Given the description of an element on the screen output the (x, y) to click on. 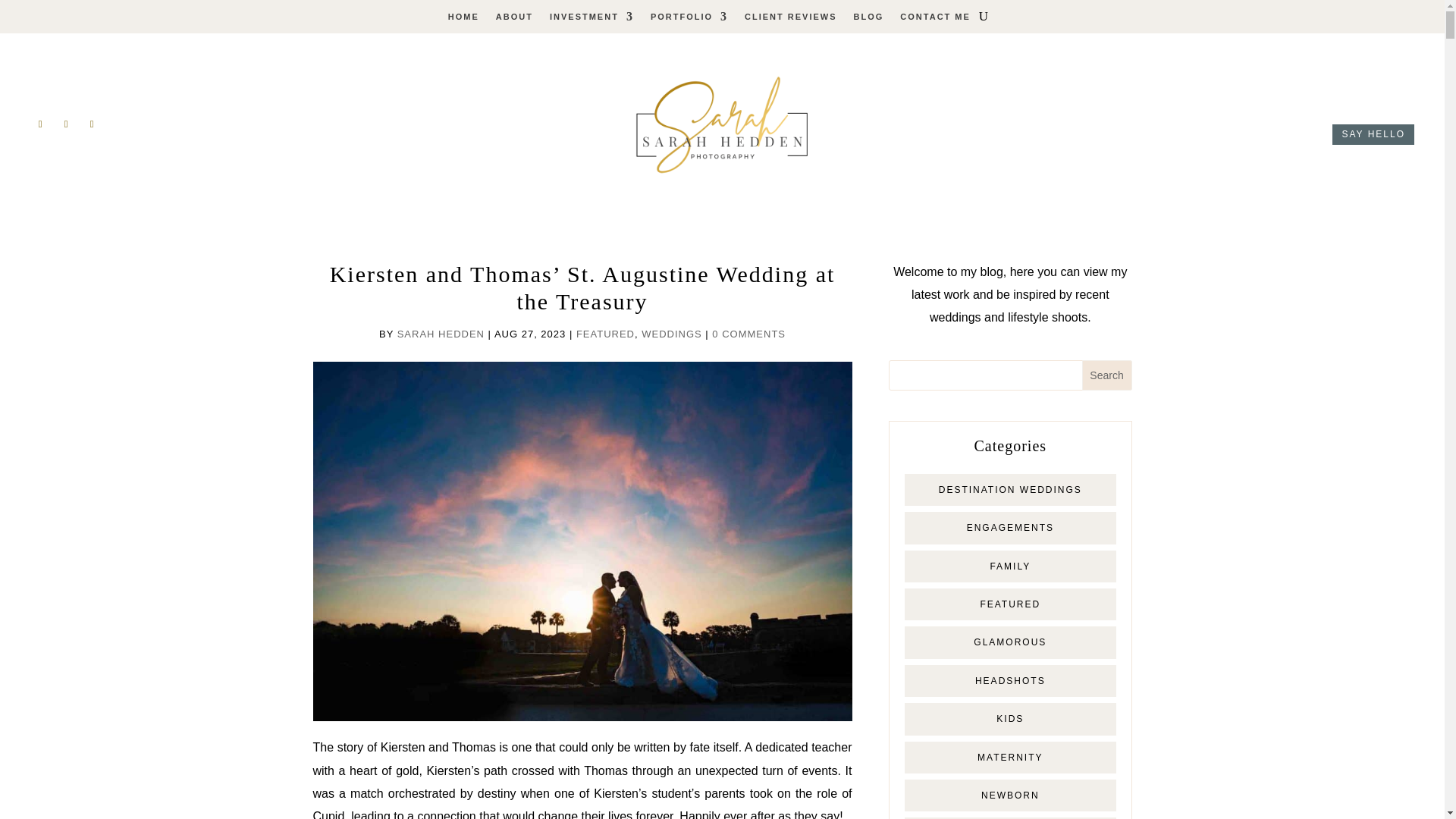
Follow on Pinterest (91, 124)
Posts by Sarah Hedden (440, 333)
Follow on Instagram (65, 124)
Search (1106, 375)
BLOG (868, 19)
HOME (463, 19)
ABOUT (514, 19)
Follow on Facebook (39, 124)
PORTFOLIO (689, 19)
INVESTMENT (591, 19)
CLIENT REVIEWS (790, 19)
CONTACT ME (935, 19)
